Given the description of an element on the screen output the (x, y) to click on. 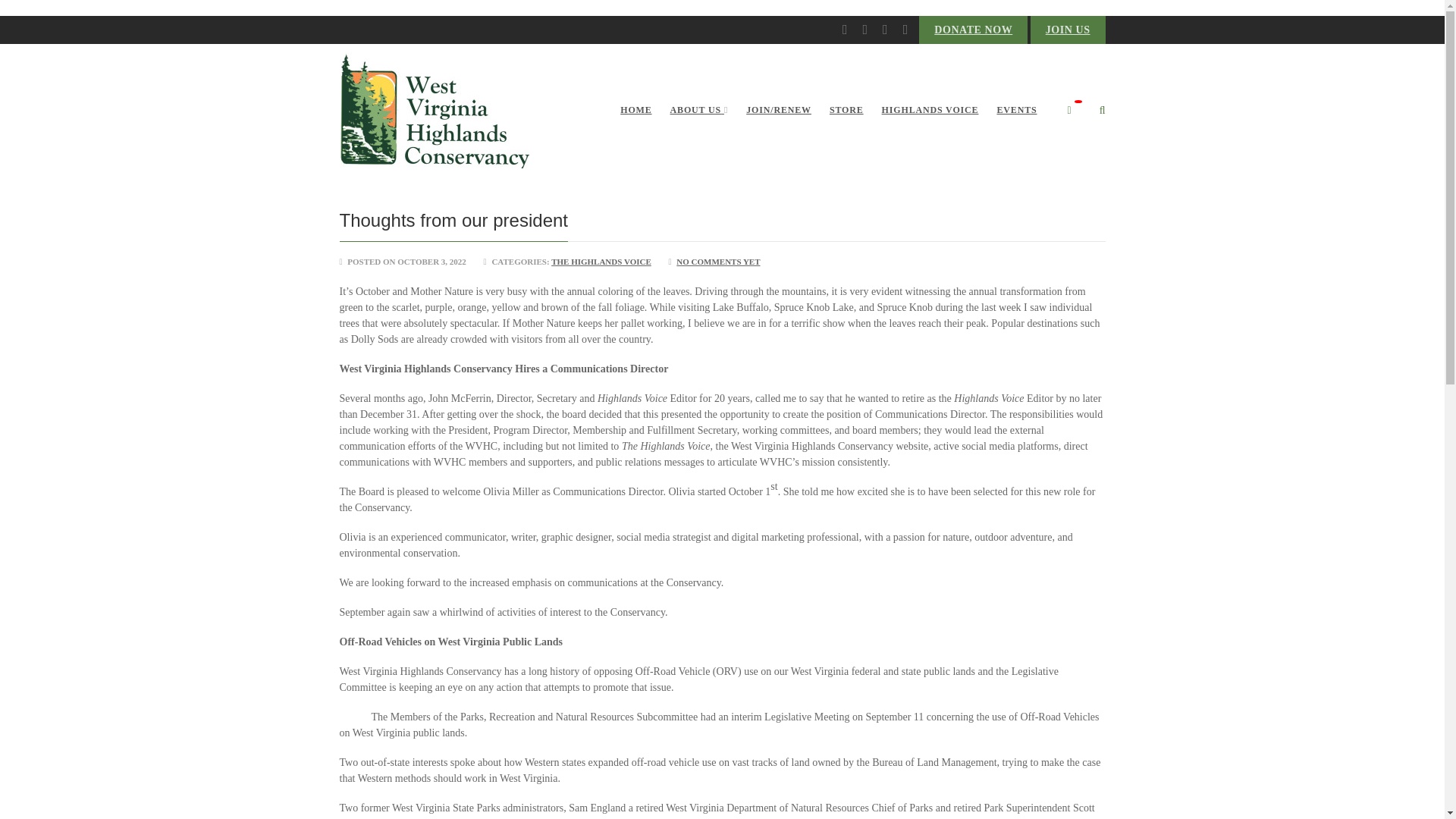
DONATE NOW (972, 29)
West Virginia Highlands Conservancy (434, 110)
THE HIGHLANDS VOICE (600, 261)
JOIN US (1067, 29)
NO COMMENTS YET (718, 261)
